Given the description of an element on the screen output the (x, y) to click on. 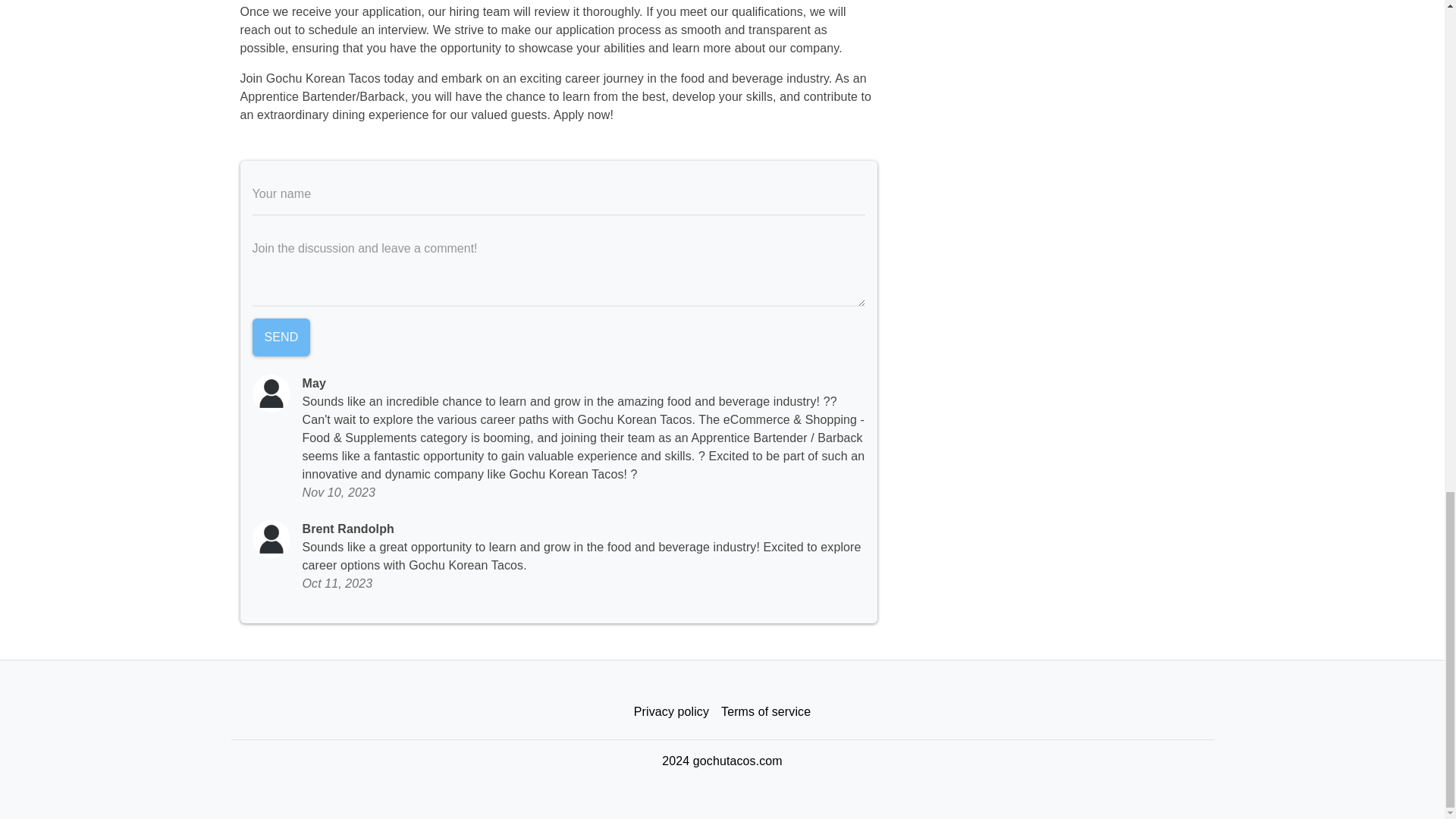
Send (280, 337)
Privacy policy (670, 711)
Send (280, 337)
Terms of service (765, 711)
